Given the description of an element on the screen output the (x, y) to click on. 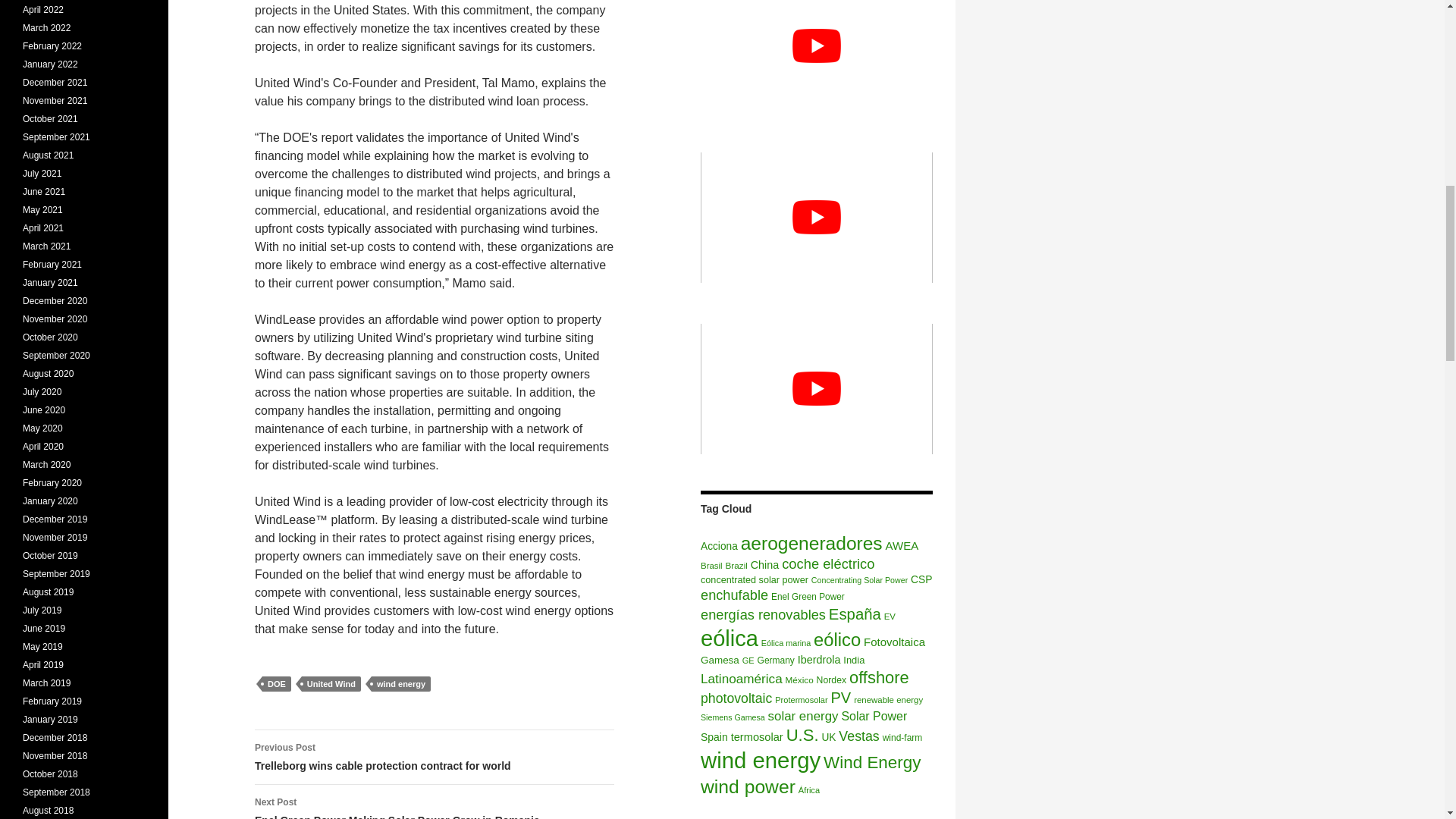
United Wind (331, 683)
DOE (276, 683)
wind energy (400, 683)
